Given the description of an element on the screen output the (x, y) to click on. 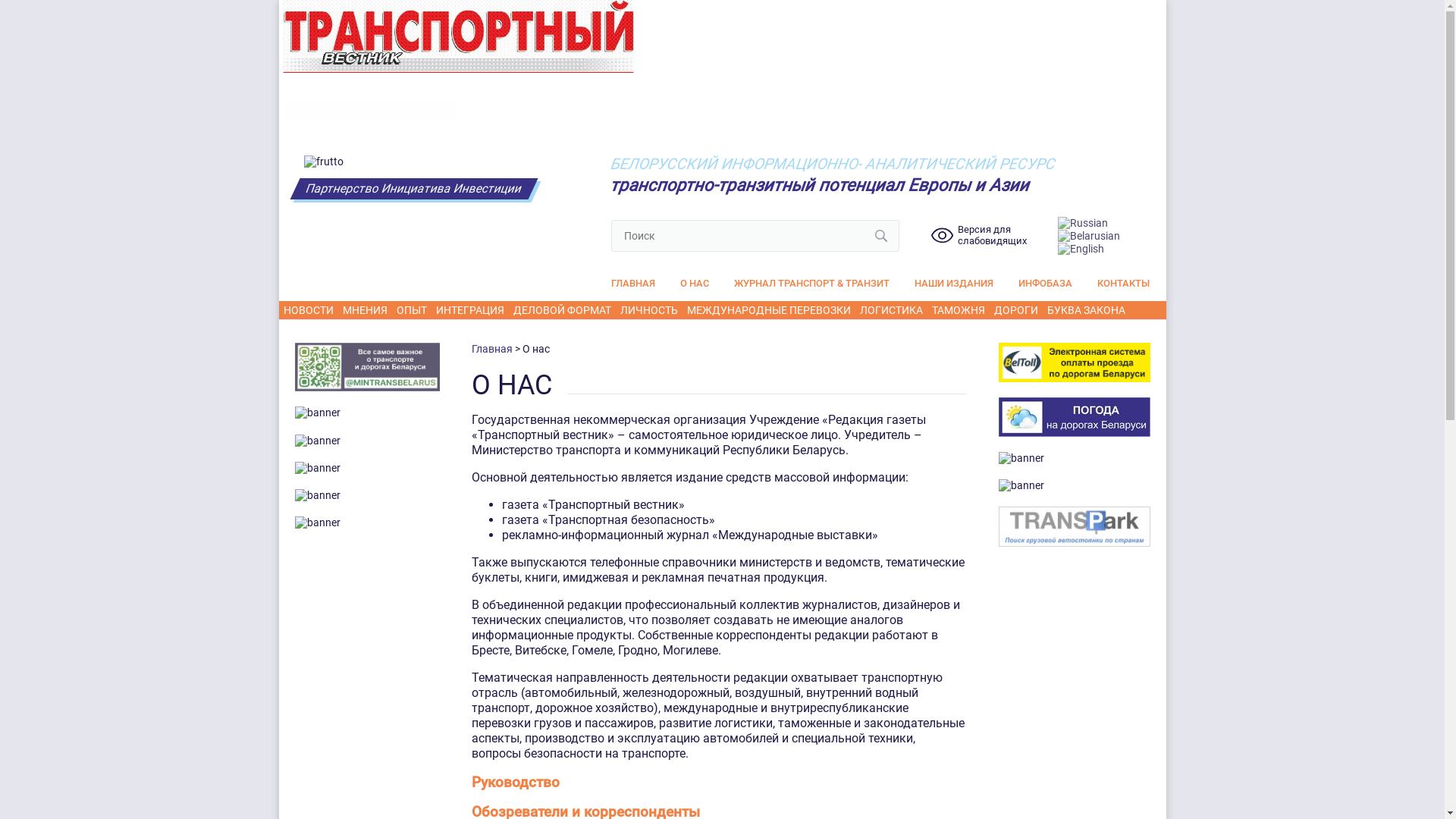
English Element type: hover (1080, 247)
Belarusian Element type: hover (1088, 235)
Russian Element type: hover (1082, 222)
